Given the description of an element on the screen output the (x, y) to click on. 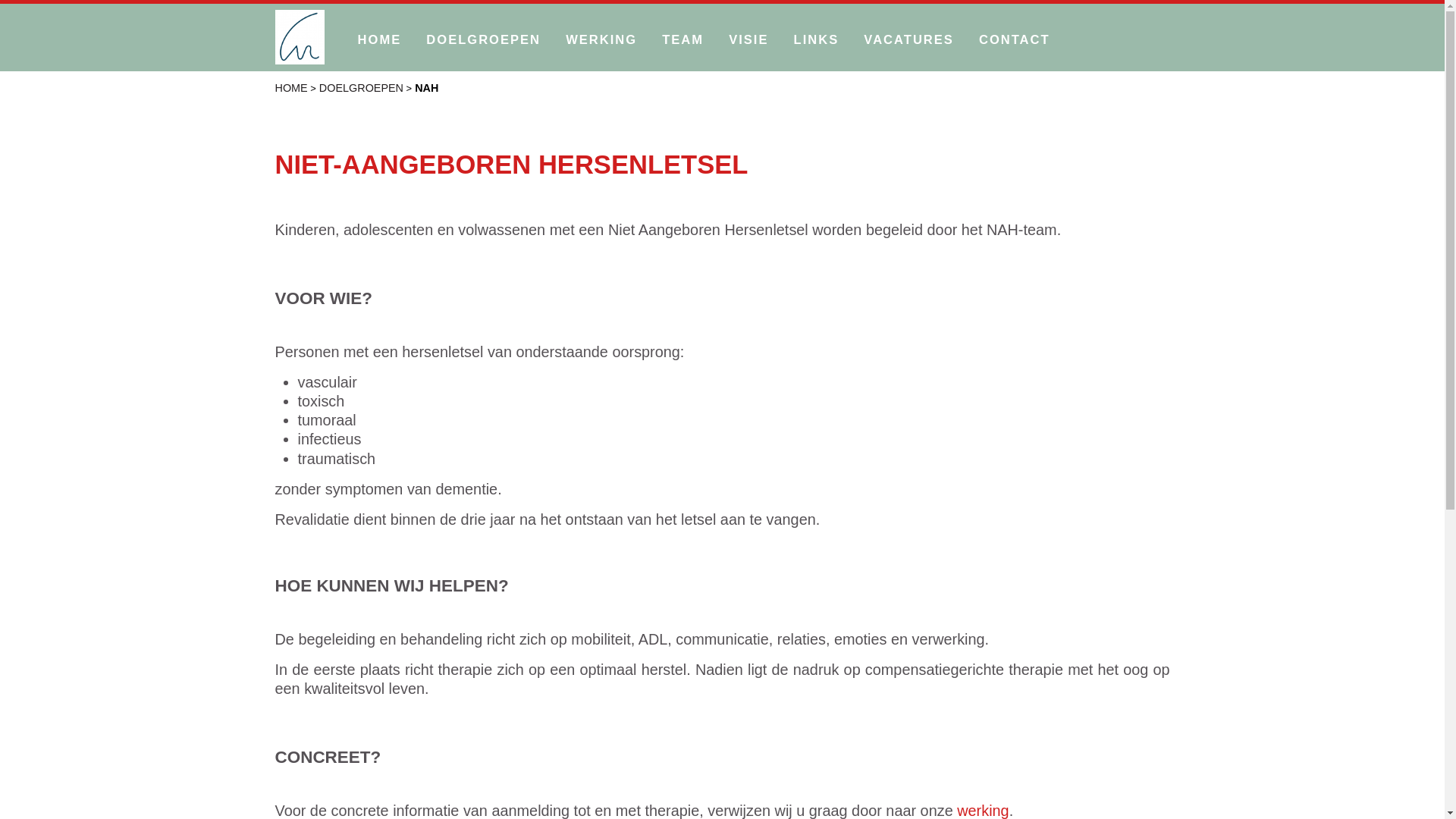
DOELGROEPEN Element type: text (361, 87)
HOME Element type: text (290, 87)
CONTACT Element type: text (1014, 37)
WERKING Element type: text (601, 37)
VACATURES Element type: text (908, 37)
NAH Element type: text (426, 87)
VISIE Element type: text (748, 37)
DOELGROEPEN Element type: text (483, 37)
LINKS Element type: text (816, 37)
HOME Element type: text (379, 37)
TEAM Element type: text (682, 37)
